Given the description of an element on the screen output the (x, y) to click on. 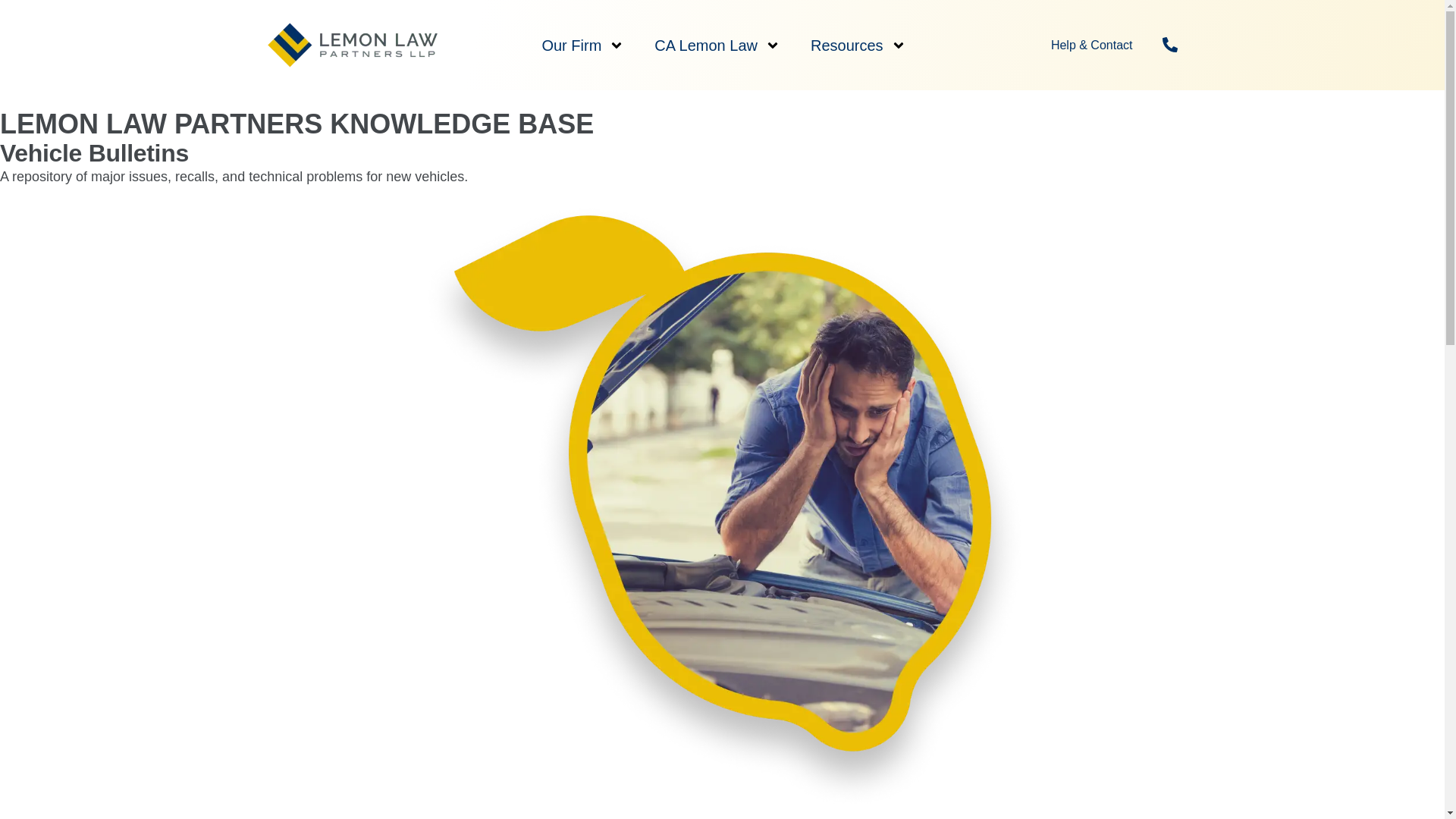
Our Firm (582, 45)
Resources (857, 45)
CA Lemon Law (716, 45)
